Given the description of an element on the screen output the (x, y) to click on. 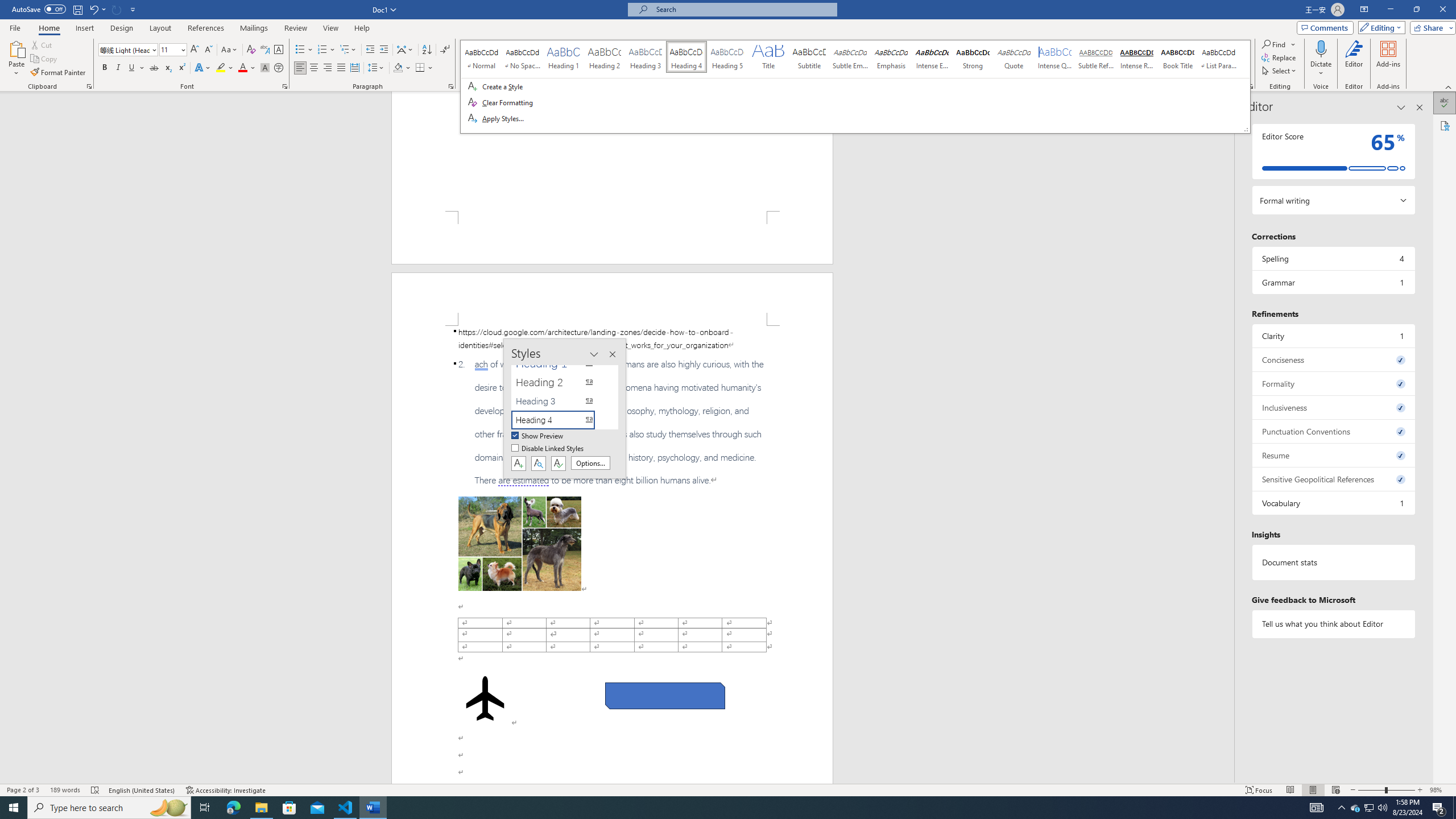
Notification Chevron (1341, 807)
